Given the description of an element on the screen output the (x, y) to click on. 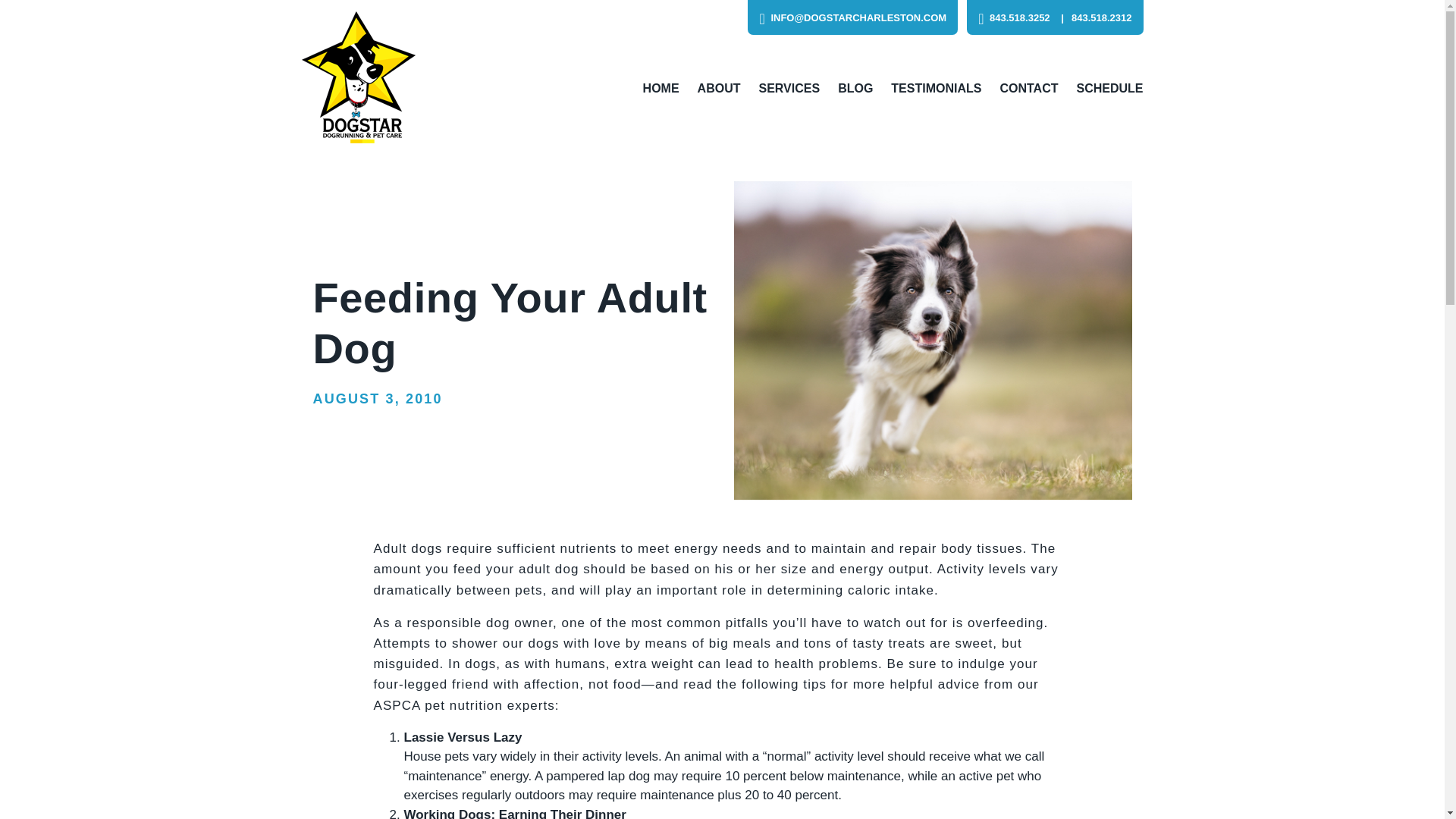
843.518.2312 (1091, 17)
ABOUT (719, 88)
dogstar-about-dog-running (932, 340)
843.518.3252 (1013, 17)
HOME (661, 88)
